Given the description of an element on the screen output the (x, y) to click on. 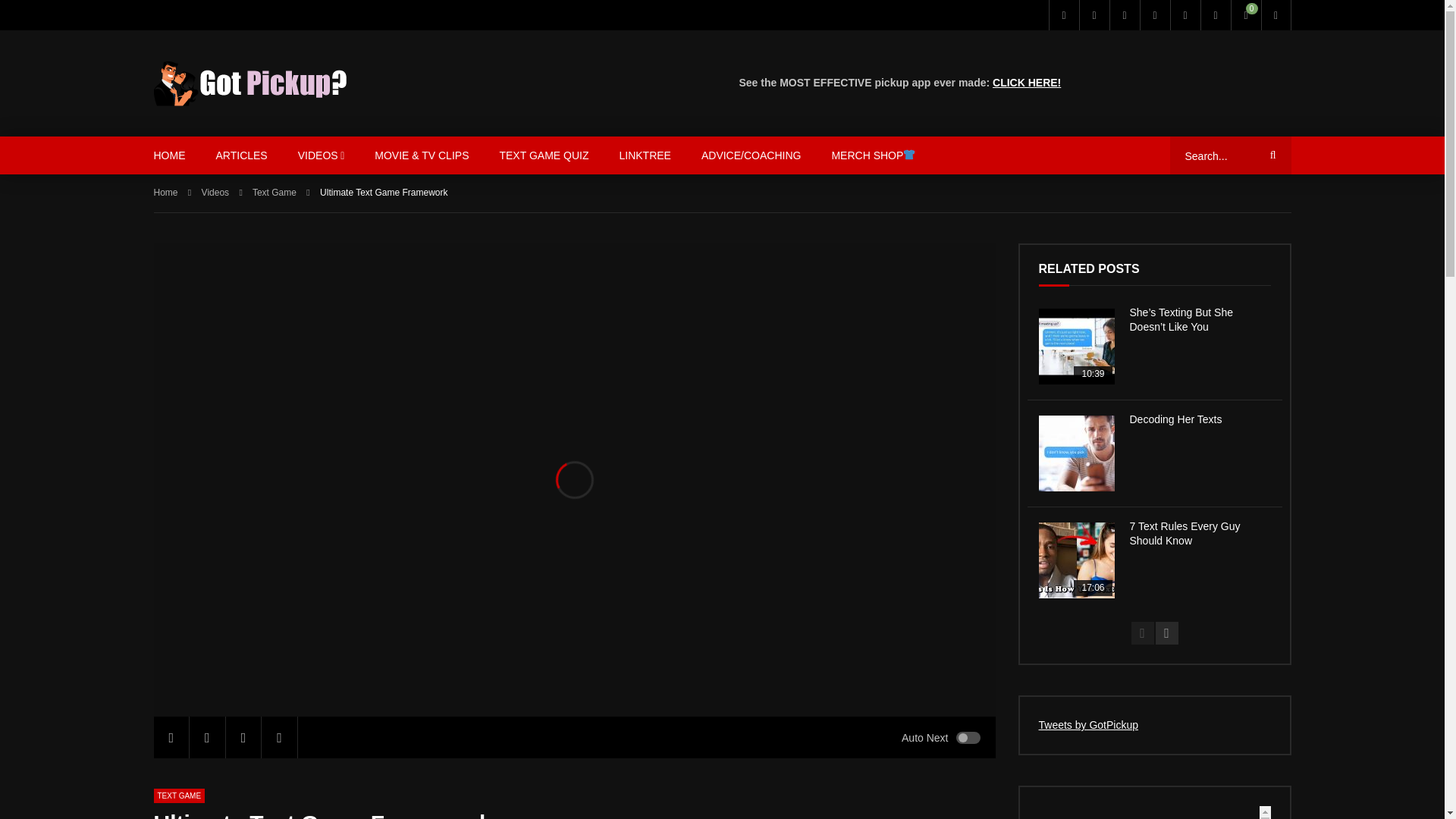
Twitter (1063, 15)
TEXT GAME QUIZ (543, 155)
Search (1270, 155)
Search (1270, 155)
View your shopping cart (1245, 15)
TikTok (1153, 15)
LINKTREE (644, 155)
Got Pickup? (249, 82)
CLICK HERE! (1026, 82)
Notifications (1214, 15)
Login (1275, 15)
HOME (169, 155)
0 (1245, 15)
VIDEOS (320, 155)
Threads (1184, 15)
